Given the description of an element on the screen output the (x, y) to click on. 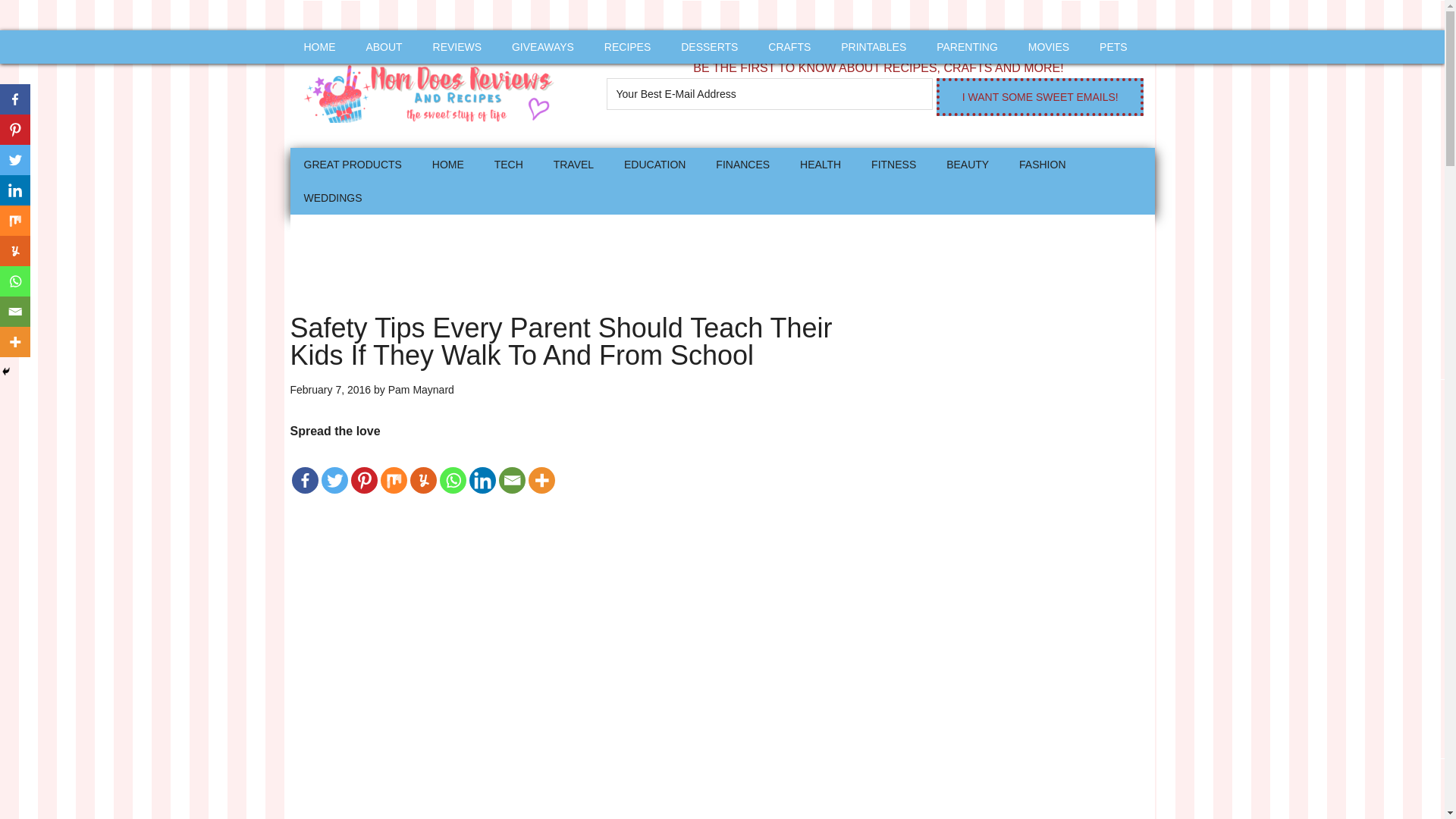
PRINTABLES (873, 46)
HEALTH (820, 164)
MOVIES (1048, 46)
TRAVEL (573, 164)
FITNESS (893, 164)
RECIPES (627, 46)
review (457, 46)
TECH (508, 164)
FINANCES (742, 164)
EDUCATION (654, 164)
